Given the description of an element on the screen output the (x, y) to click on. 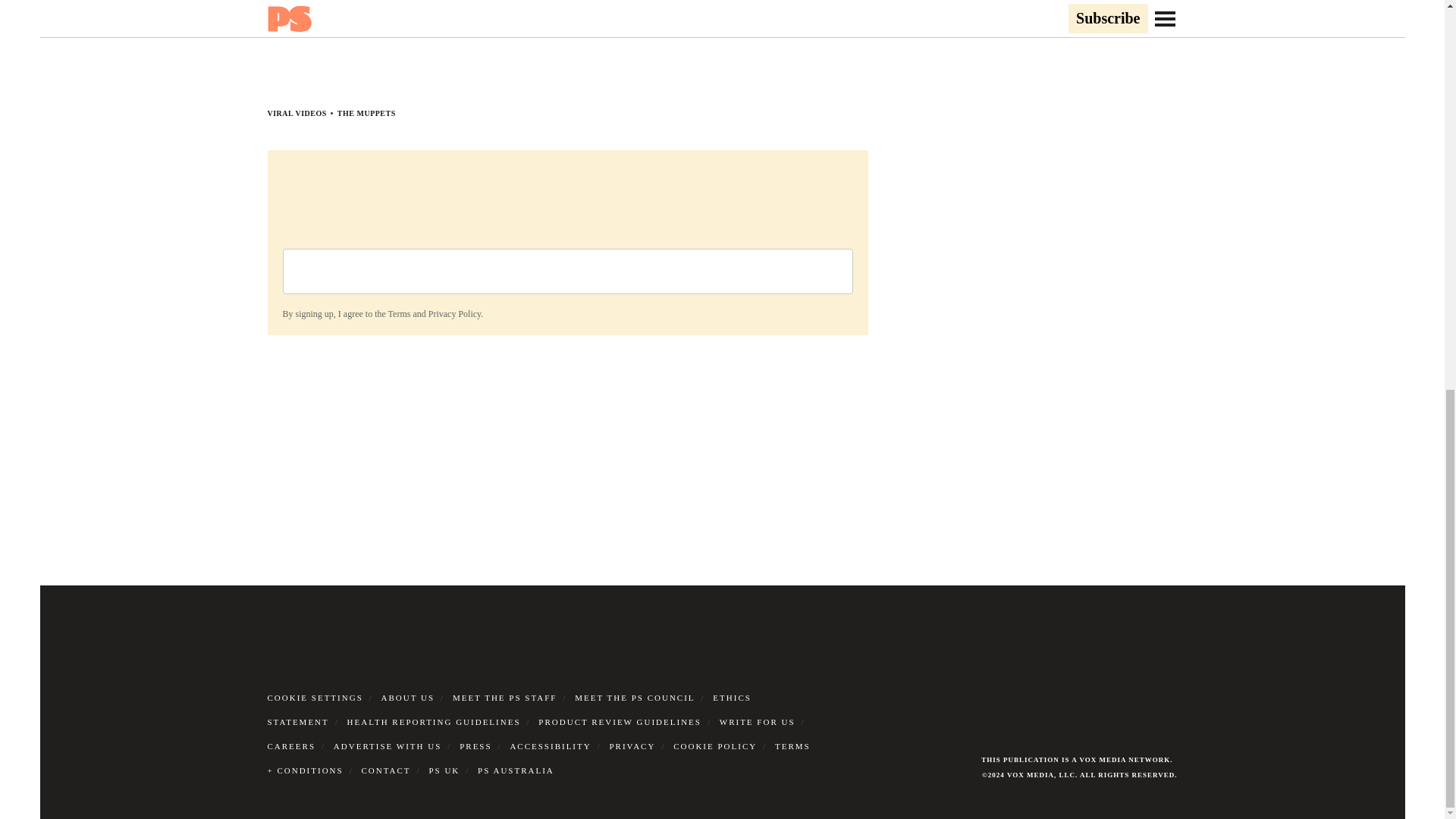
PRIVACY (633, 745)
WRITE FOR US (756, 720)
ETHICS STATEMENT (508, 709)
PS UK (444, 769)
CAREERS (290, 745)
CONTACT (385, 769)
VOX MEDIA (1030, 774)
PRESS (476, 745)
ACCESSIBILITY (550, 745)
MEET THE PS STAFF (504, 696)
THE MUPPETS (366, 112)
HEALTH REPORTING GUIDELINES (434, 720)
COOKIE POLICY (714, 745)
ABOUT US (408, 696)
ADVERTISE WITH US (387, 745)
